Given the description of an element on the screen output the (x, y) to click on. 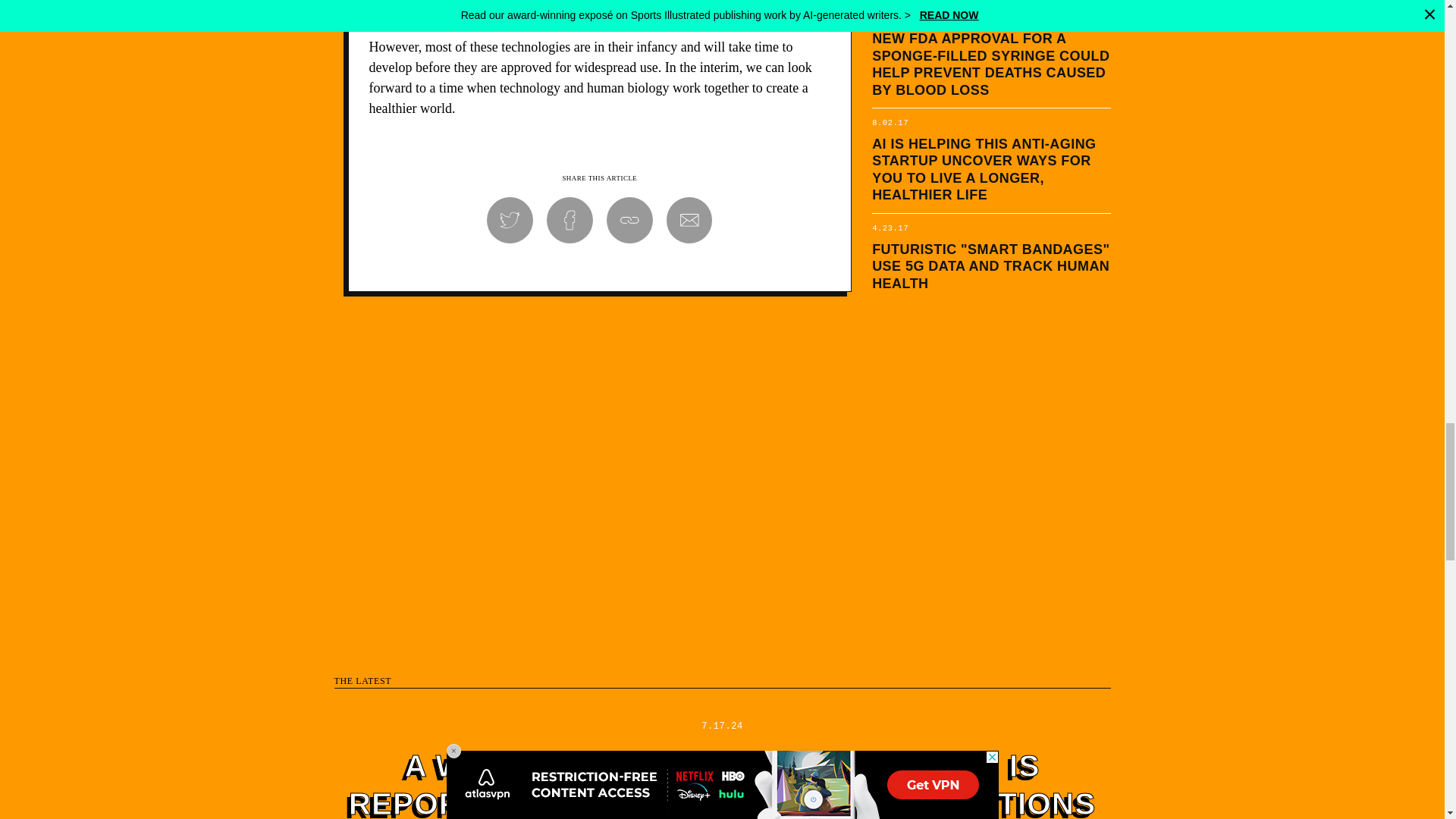
Copy Link (629, 220)
Tweet This (509, 220)
revive brain dead individuals (447, 6)
Share to Facebook (569, 220)
